Given the description of an element on the screen output the (x, y) to click on. 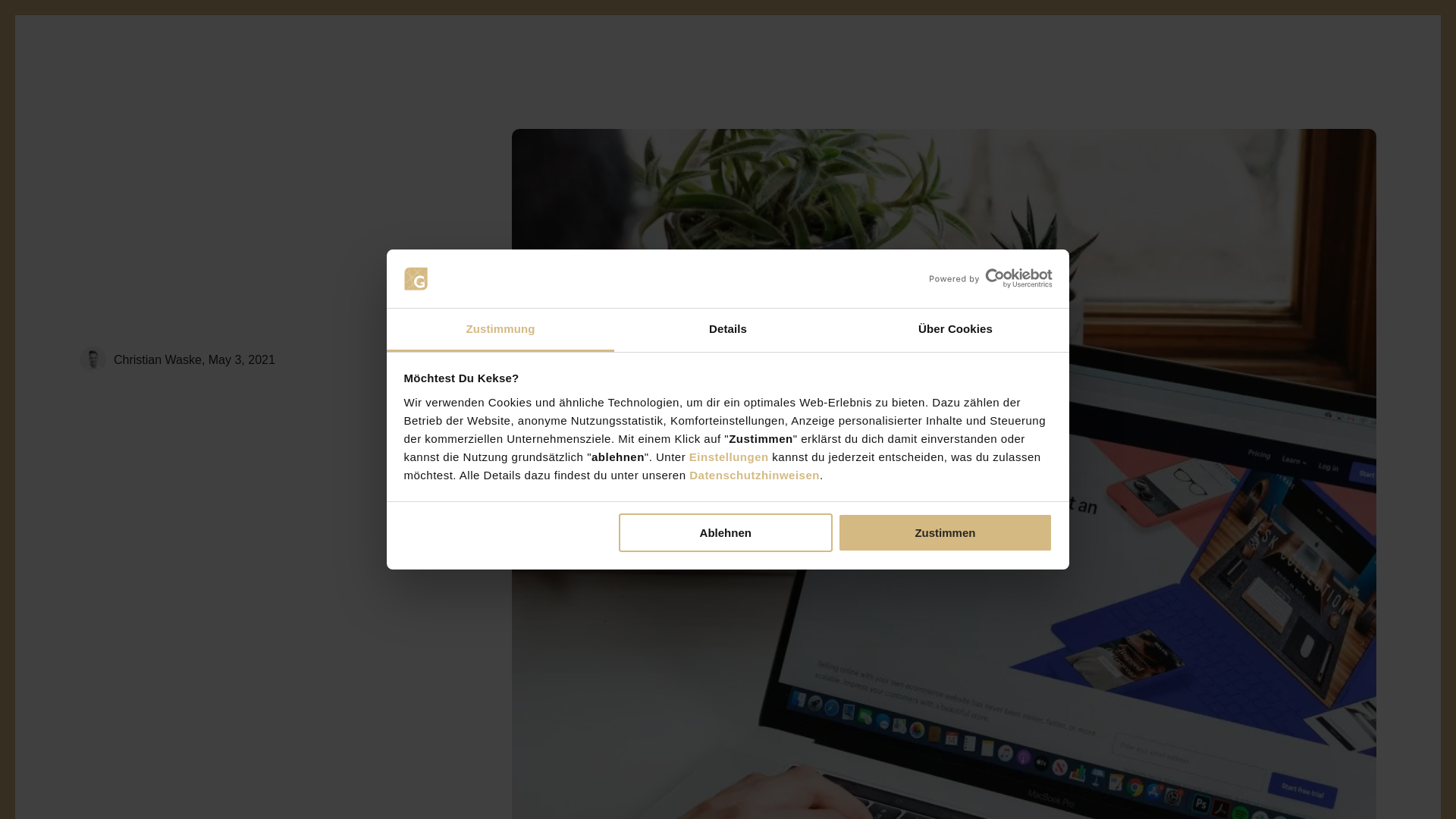
Datenschutzhinweisen (753, 474)
Details (727, 330)
Zustimmung (500, 330)
Einstellungen (728, 456)
